Given the description of an element on the screen output the (x, y) to click on. 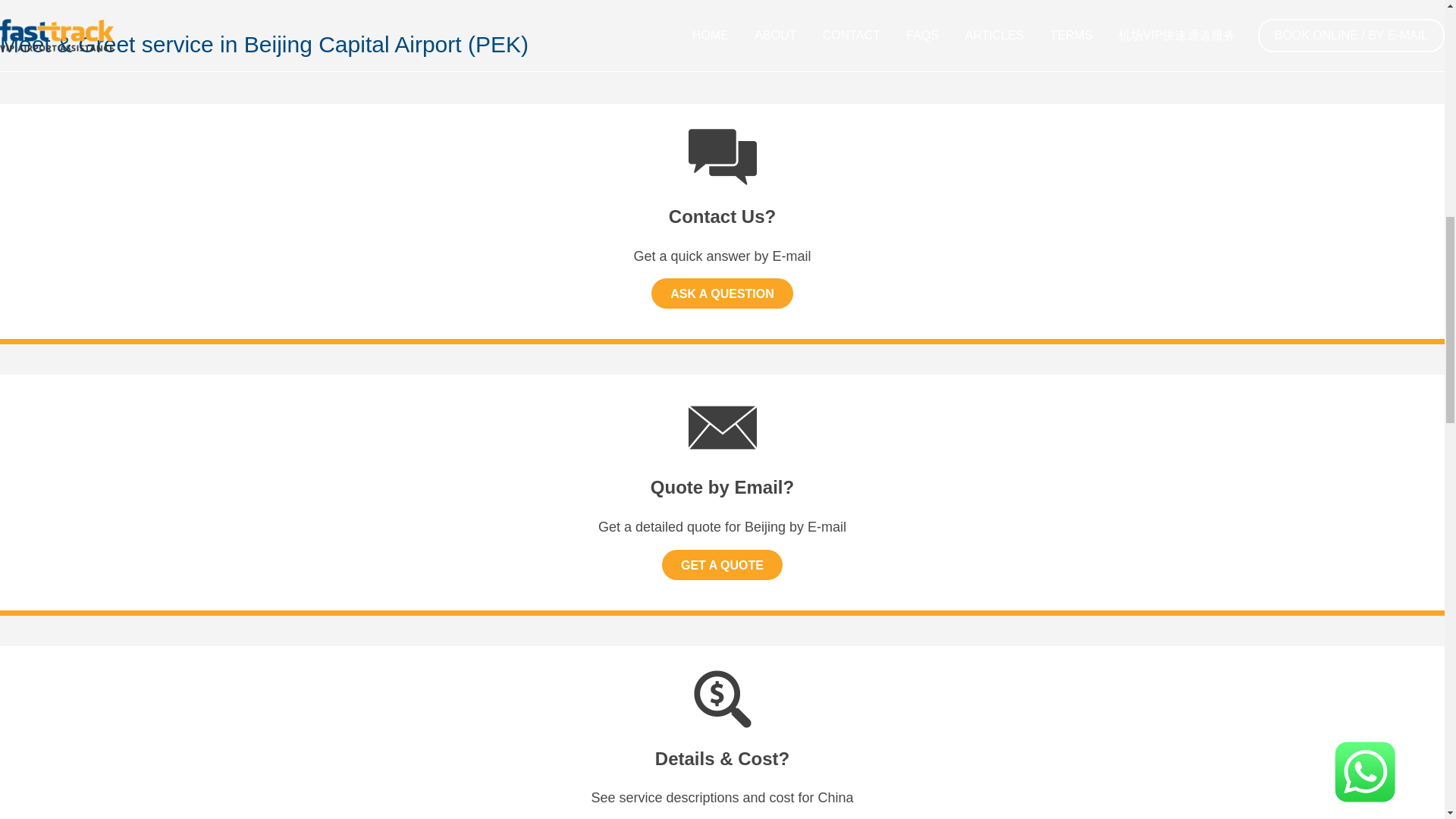
ASK A QUESTION (721, 293)
GET A QUOTE (722, 564)
